Given the description of an element on the screen output the (x, y) to click on. 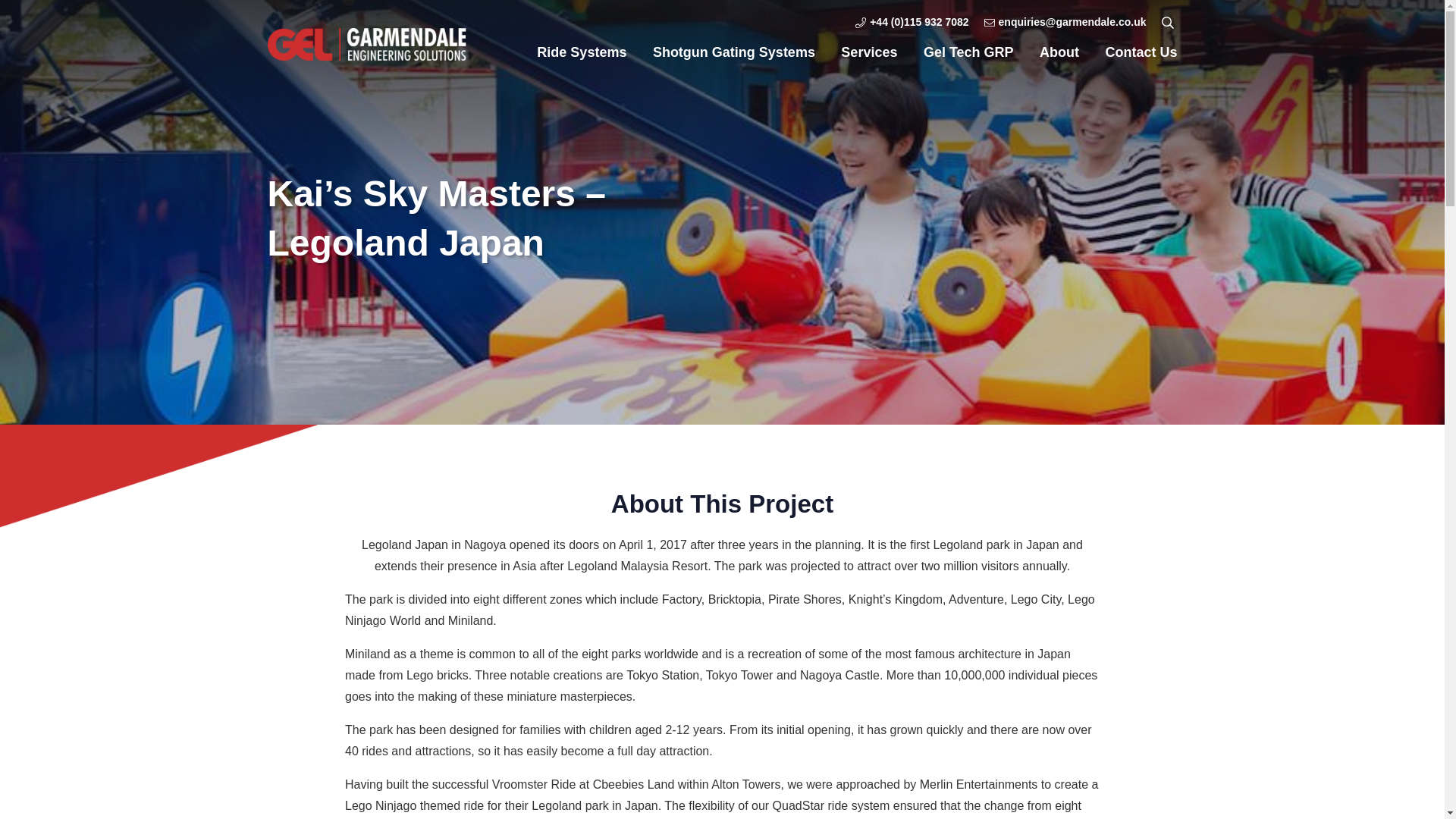
About (1058, 52)
Ride Systems (581, 52)
Shotgun Gating Systems (734, 52)
Contact Us (1140, 52)
Services (868, 52)
Gel Tech GRP (968, 52)
